Given the description of an element on the screen output the (x, y) to click on. 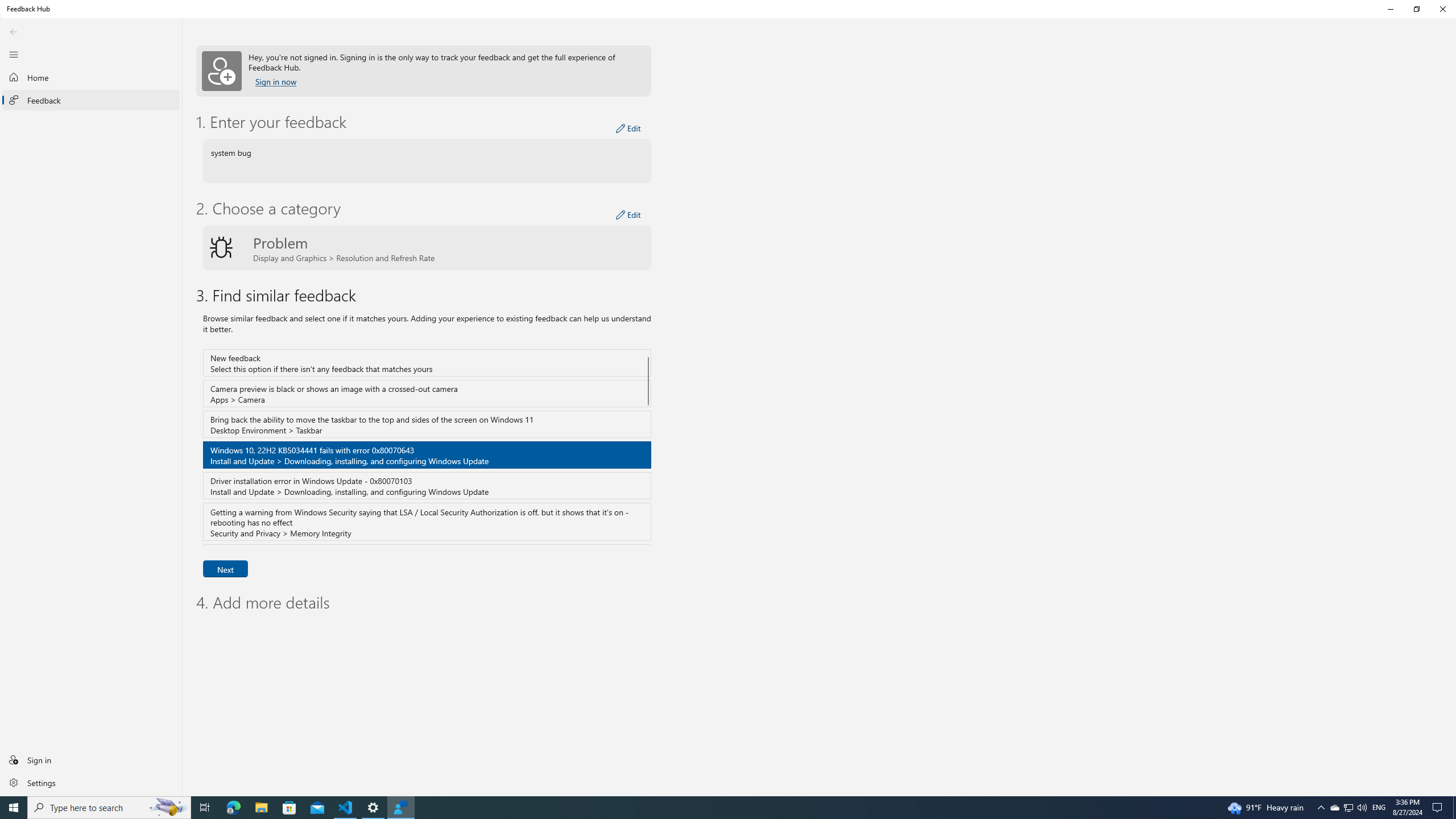
Close Feedback Hub (1442, 9)
Vertical (1452, 420)
Restore Feedback Hub (1416, 9)
Vertical Small Decrease (1452, 49)
Edit feedback type and category (627, 214)
Feedback (90, 100)
Running applications (706, 807)
